Given the description of an element on the screen output the (x, y) to click on. 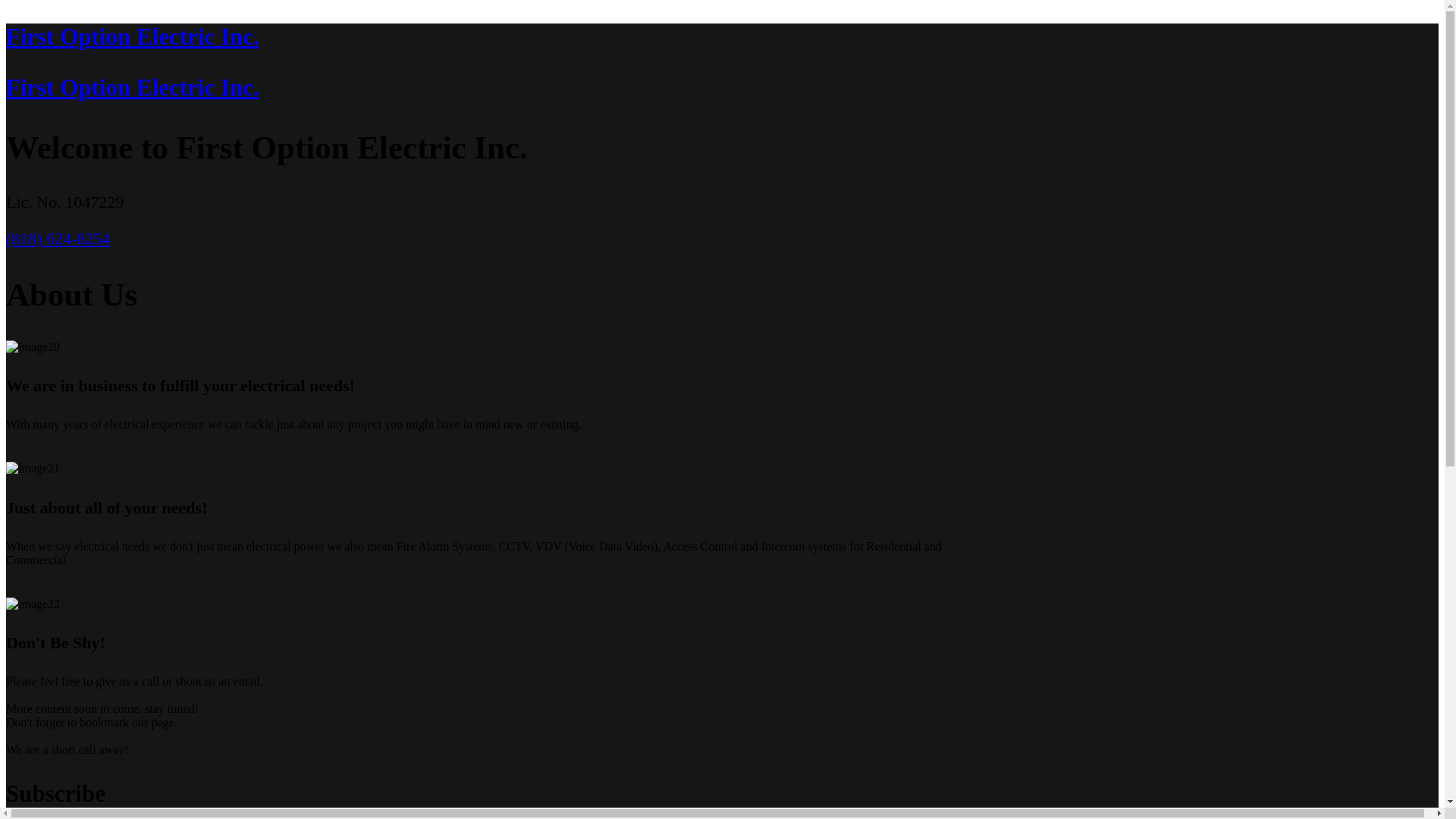
First Option Electric Inc. Element type: text (722, 36)
First Option Electric Inc. Element type: text (722, 87)
(818) 624-8254 Element type: text (57, 238)
